Given the description of an element on the screen output the (x, y) to click on. 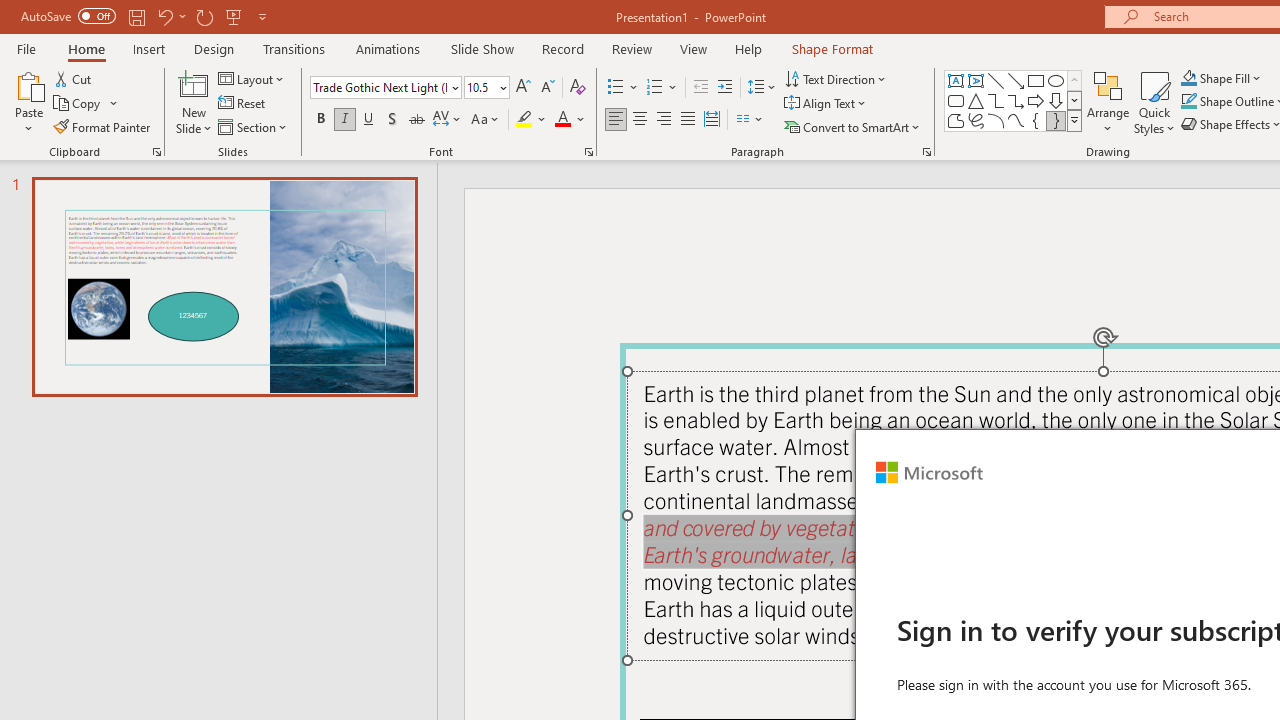
Align Text (826, 103)
Align Right (663, 119)
Quick Styles (1154, 102)
Vertical Text Box (975, 80)
Right Brace (1055, 120)
Font... (588, 151)
Shape Fill Aqua, Accent 2 (1188, 78)
Oval (1055, 80)
